Given the description of an element on the screen output the (x, y) to click on. 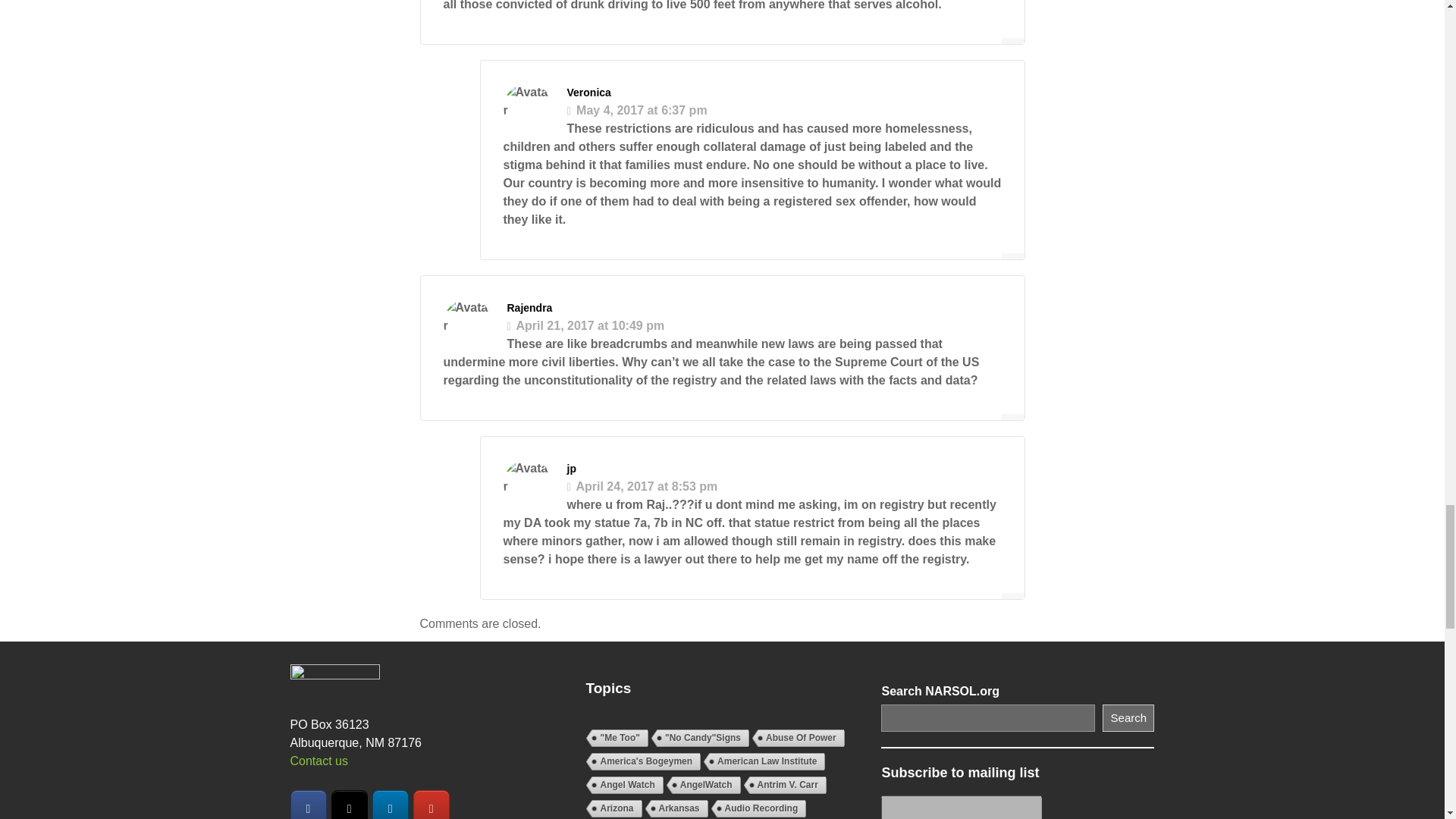
NARSOL on Youtube (431, 804)
NARSOL on X Twitter (349, 804)
NARSOL on Facebook (307, 804)
NARSOL on Linkedin (390, 804)
